Given the description of an element on the screen output the (x, y) to click on. 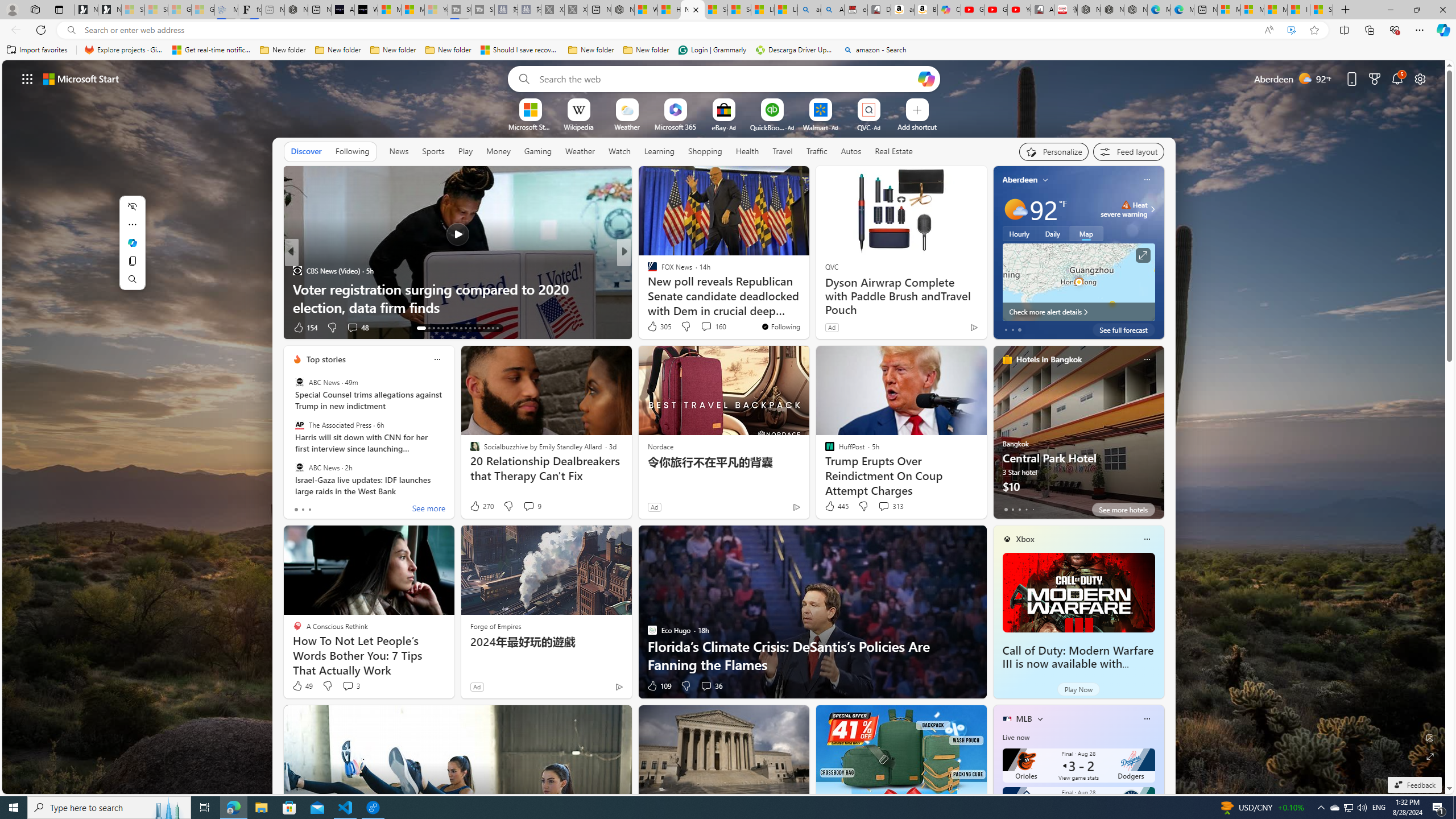
Only Earthlings (296, 288)
Top stories (325, 359)
Minimize (1390, 9)
Autos (850, 151)
News (398, 151)
Sports (432, 151)
Shopping (705, 151)
tab-4 (1032, 509)
Colin Allred Two Points Behind Ted Cruz in Second Texas Poll (807, 298)
270 Like (480, 505)
Dyson Airwrap Complete with Paddle Brush andTravel Pouch (900, 296)
Larger map  (1077, 282)
